Given the description of an element on the screen output the (x, y) to click on. 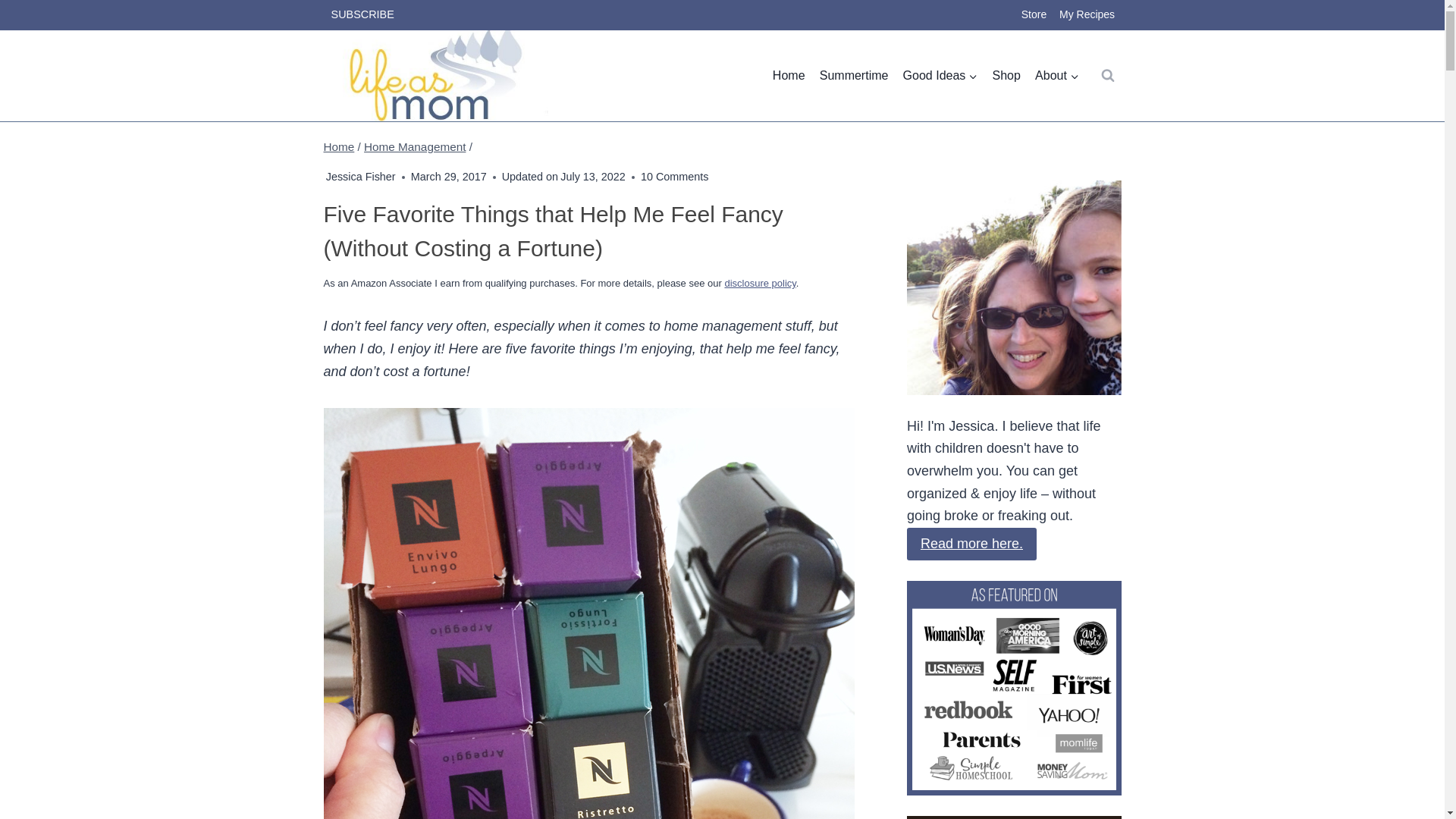
My Recipes (1086, 15)
Good Ideas (940, 75)
10 Comments (674, 177)
Shop (1006, 75)
Store (1033, 15)
Home Management (414, 146)
Home (338, 146)
10 Comments (674, 177)
About (1056, 75)
disclosure policy (758, 283)
Summertime (853, 75)
Jessica Fisher (361, 176)
SUBSCRIBE (362, 15)
Home (788, 75)
